Given the description of an element on the screen output the (x, y) to click on. 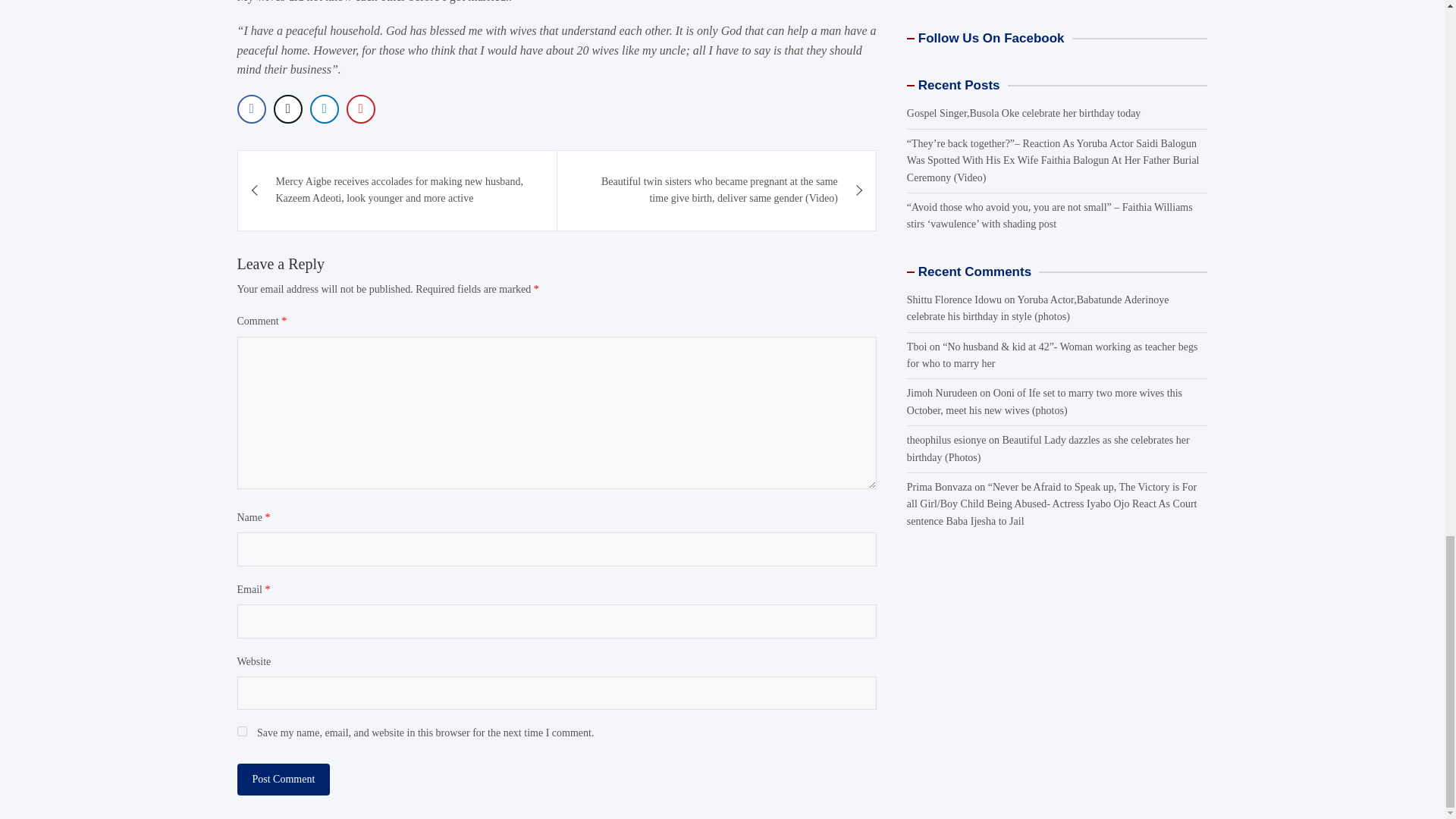
yes (240, 731)
Post Comment (282, 779)
Post Comment (282, 779)
